Given the description of an element on the screen output the (x, y) to click on. 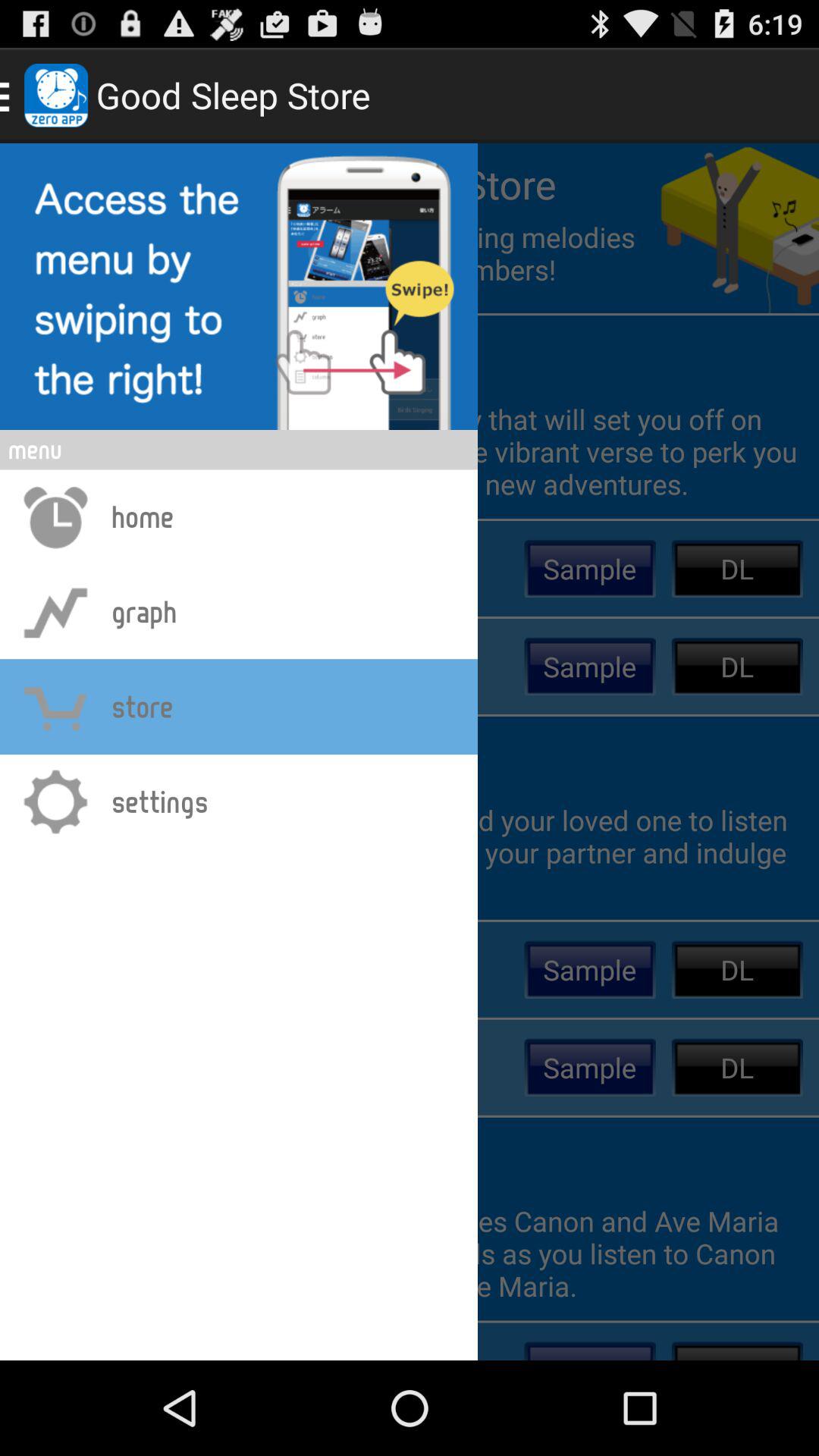
click on the dl option below the word indulge (737, 969)
select the icon which is left to the text home (55, 516)
select dl (737, 568)
click on the store icon (55, 706)
